Given the description of an element on the screen output the (x, y) to click on. 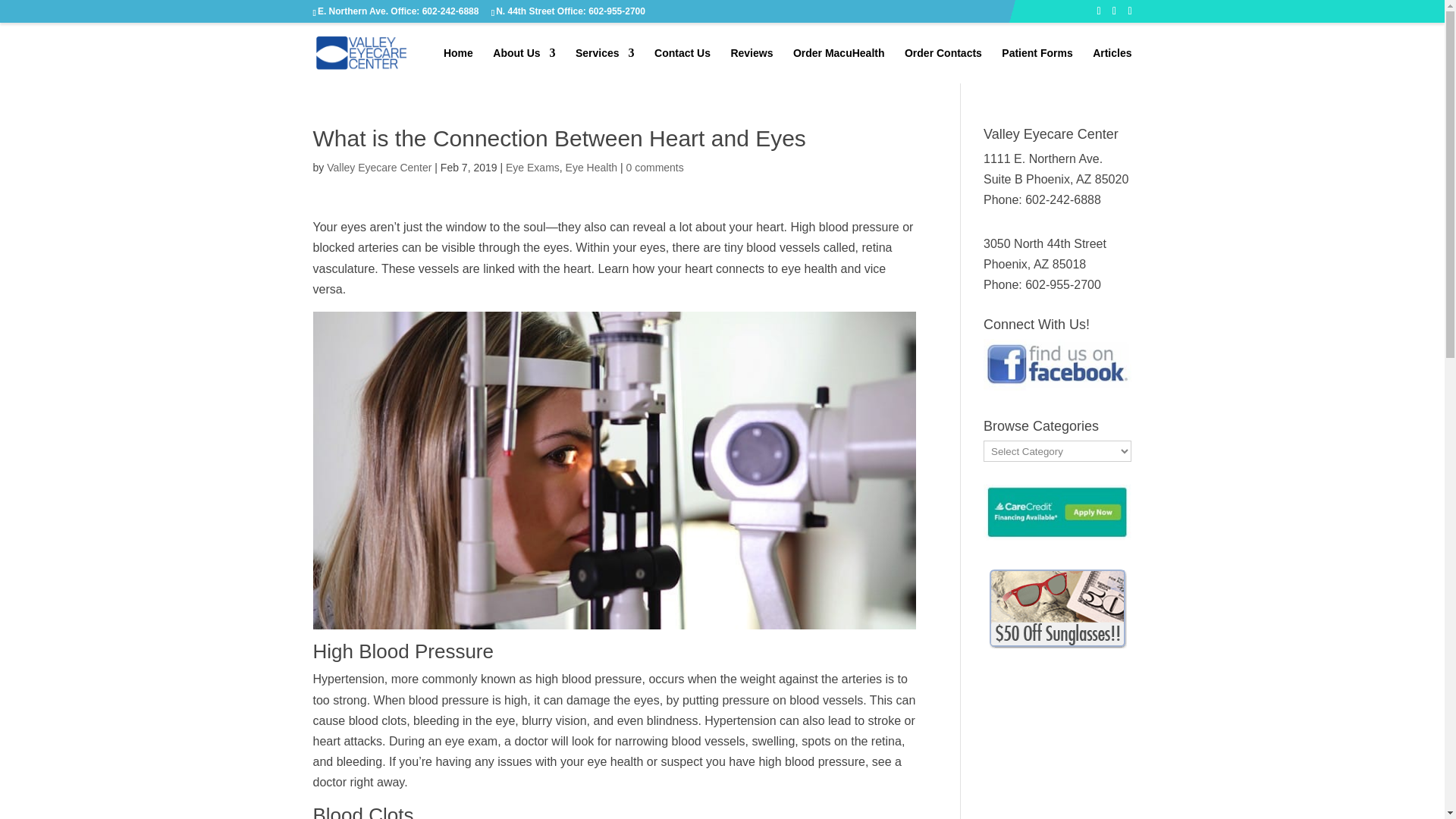
About Us (523, 65)
Contact Us (681, 65)
Patient Forms (1036, 65)
Articles (1112, 65)
N. 44th Street Office: 602-955-2700 (570, 10)
Order Contacts (942, 65)
Services (604, 65)
E. Northern Ave. Office: 602-242-6888 (398, 10)
Reviews (751, 65)
Eye Exams (532, 167)
